Given the description of an element on the screen output the (x, y) to click on. 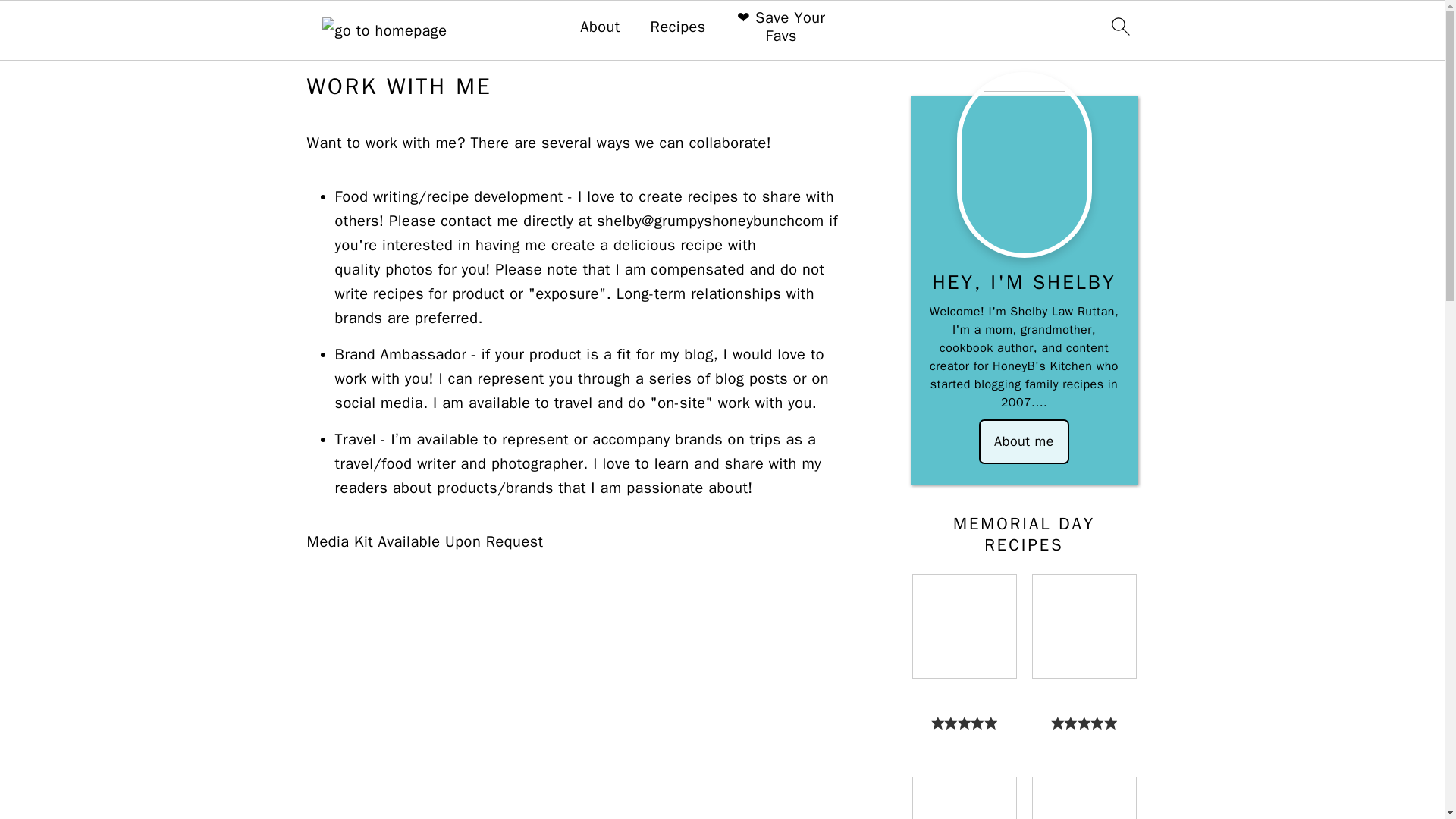
About (599, 27)
search icon (1119, 26)
Recipes (678, 27)
